Given the description of an element on the screen output the (x, y) to click on. 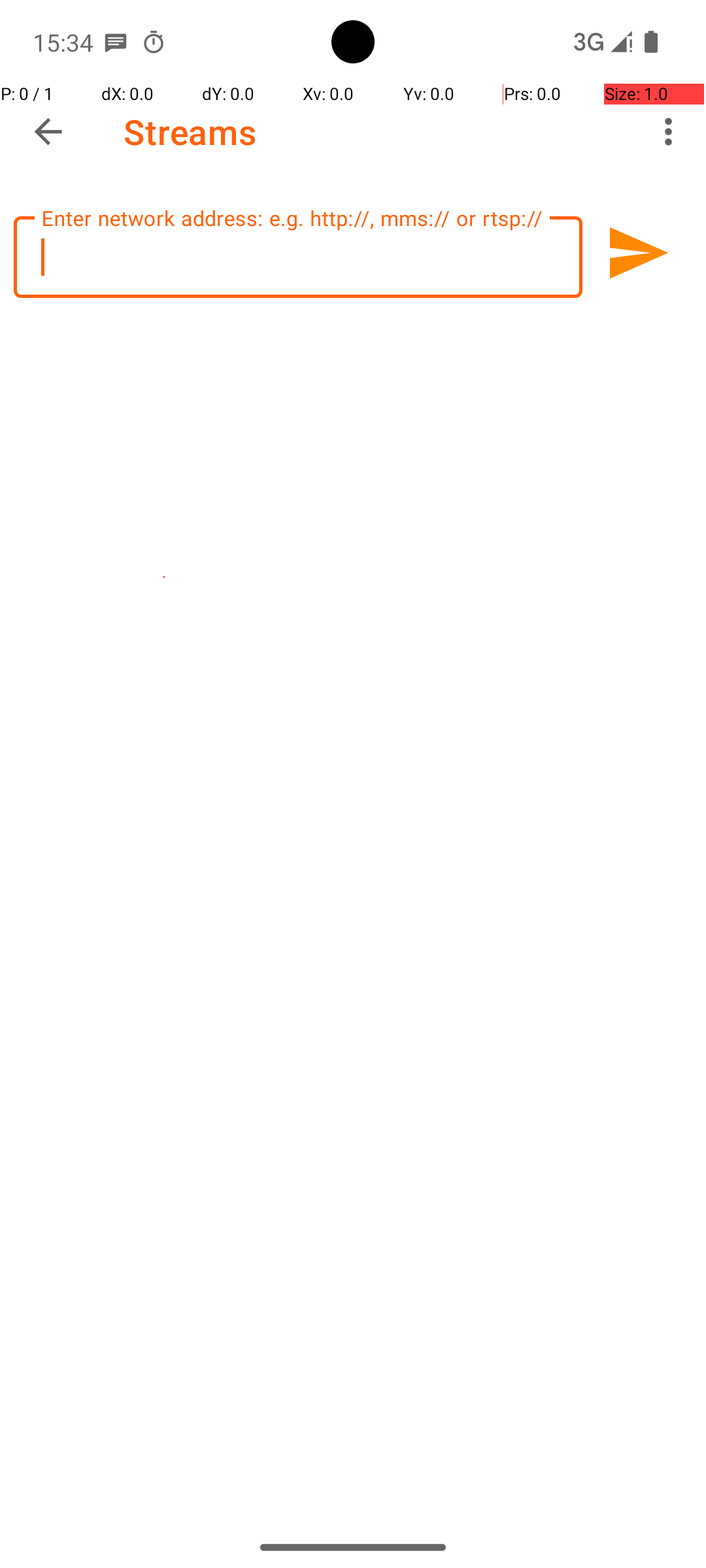
Enter network address: e.g. http://, mms:// or rtsp:// Element type: android.widget.EditText (297, 256)
Play Button Element type: android.widget.ImageView (637, 252)
